Given the description of an element on the screen output the (x, y) to click on. 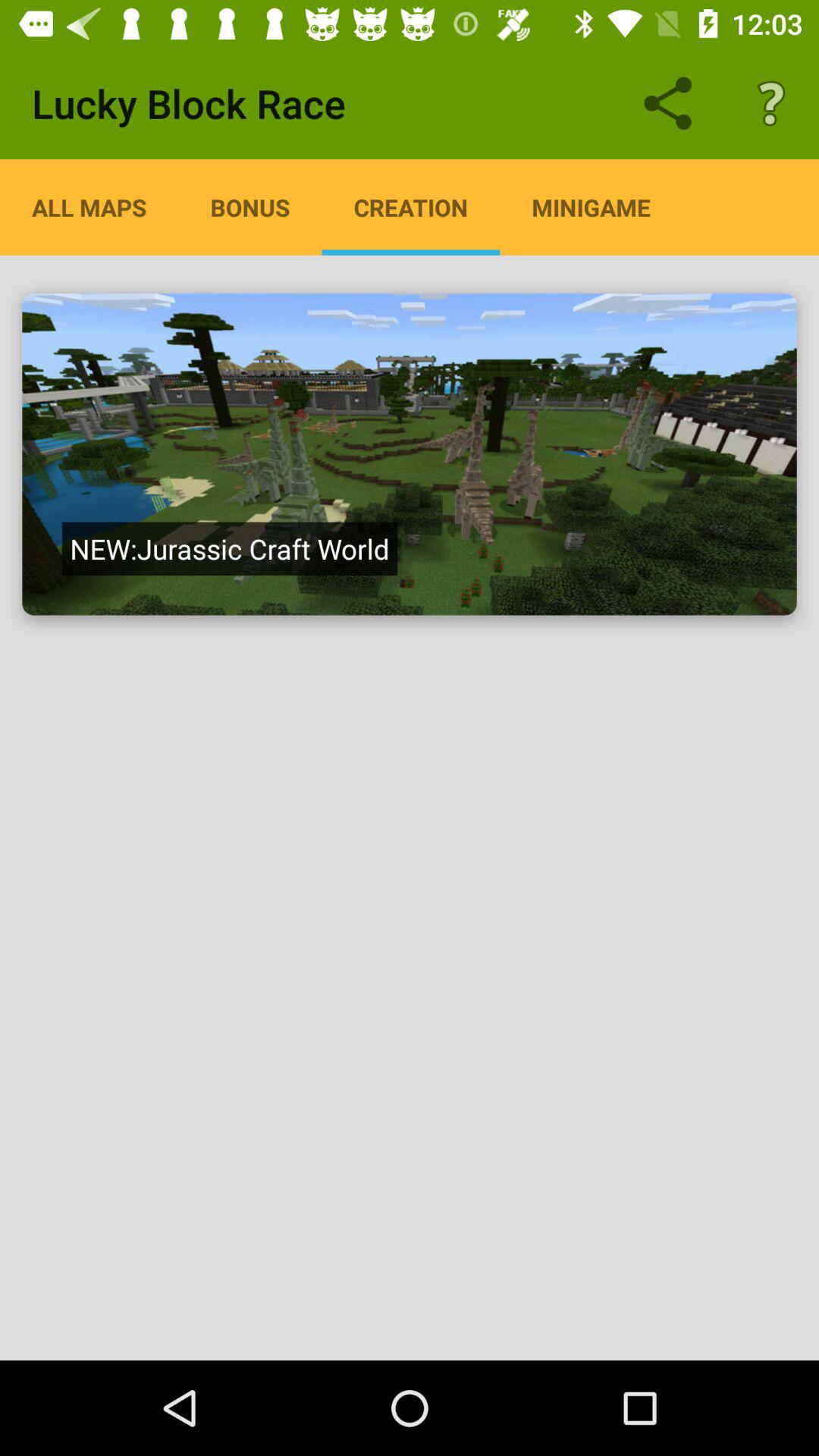
turn off item below all maps icon (229, 548)
